Given the description of an element on the screen output the (x, y) to click on. 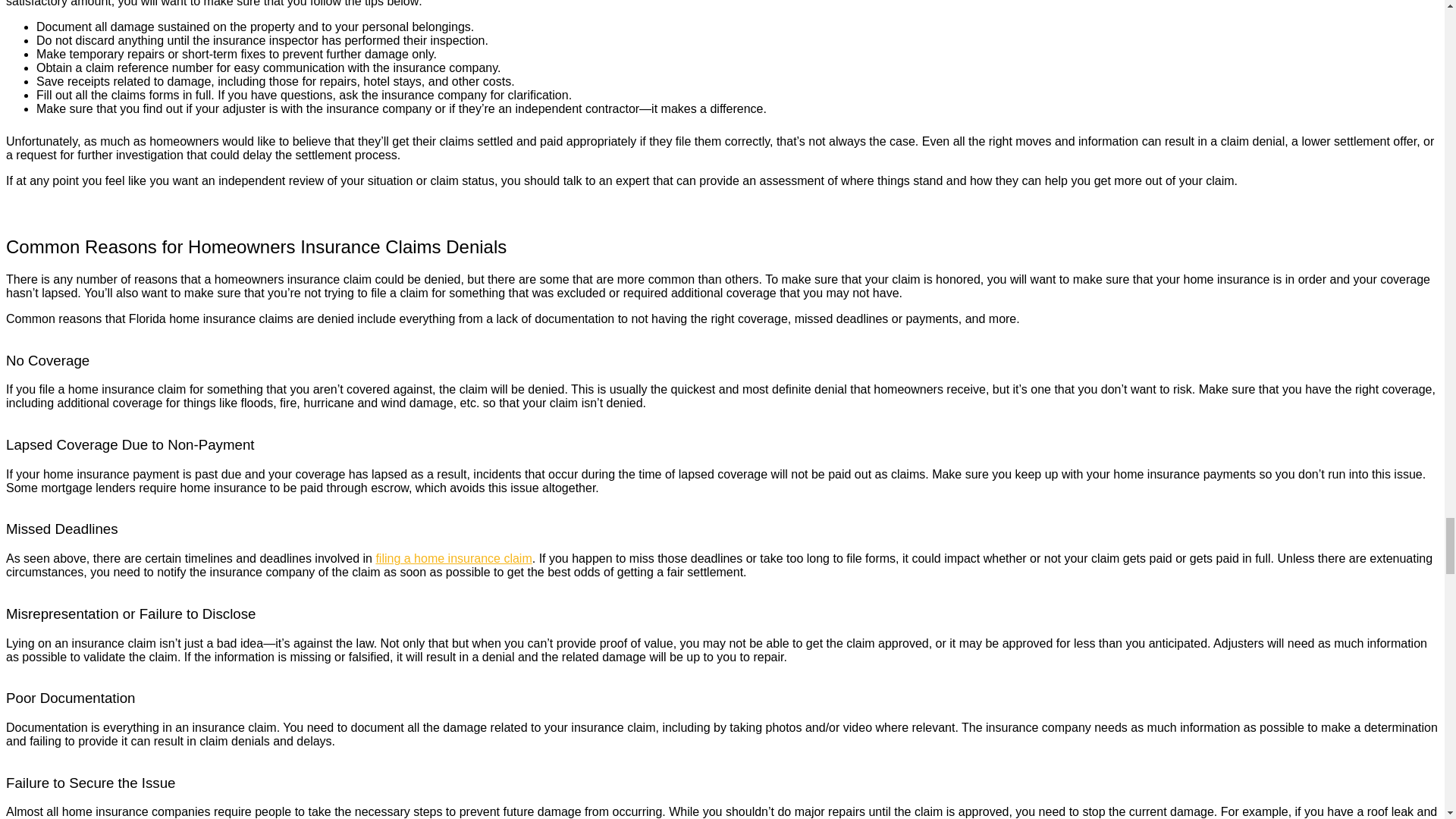
filing a home insurance claim (453, 558)
